Given the description of an element on the screen output the (x, y) to click on. 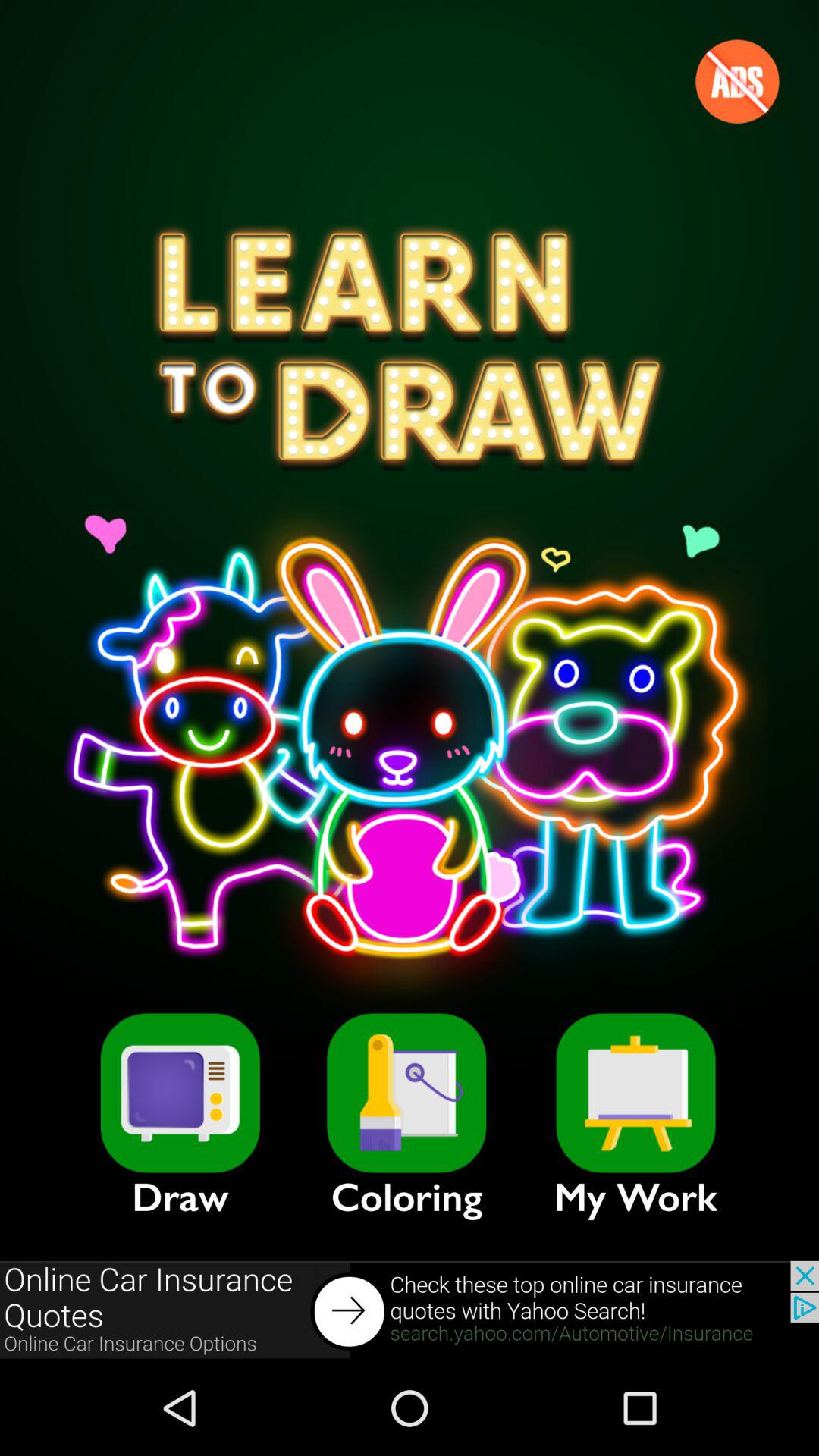
open advertisement (409, 1310)
